Given the description of an element on the screen output the (x, y) to click on. 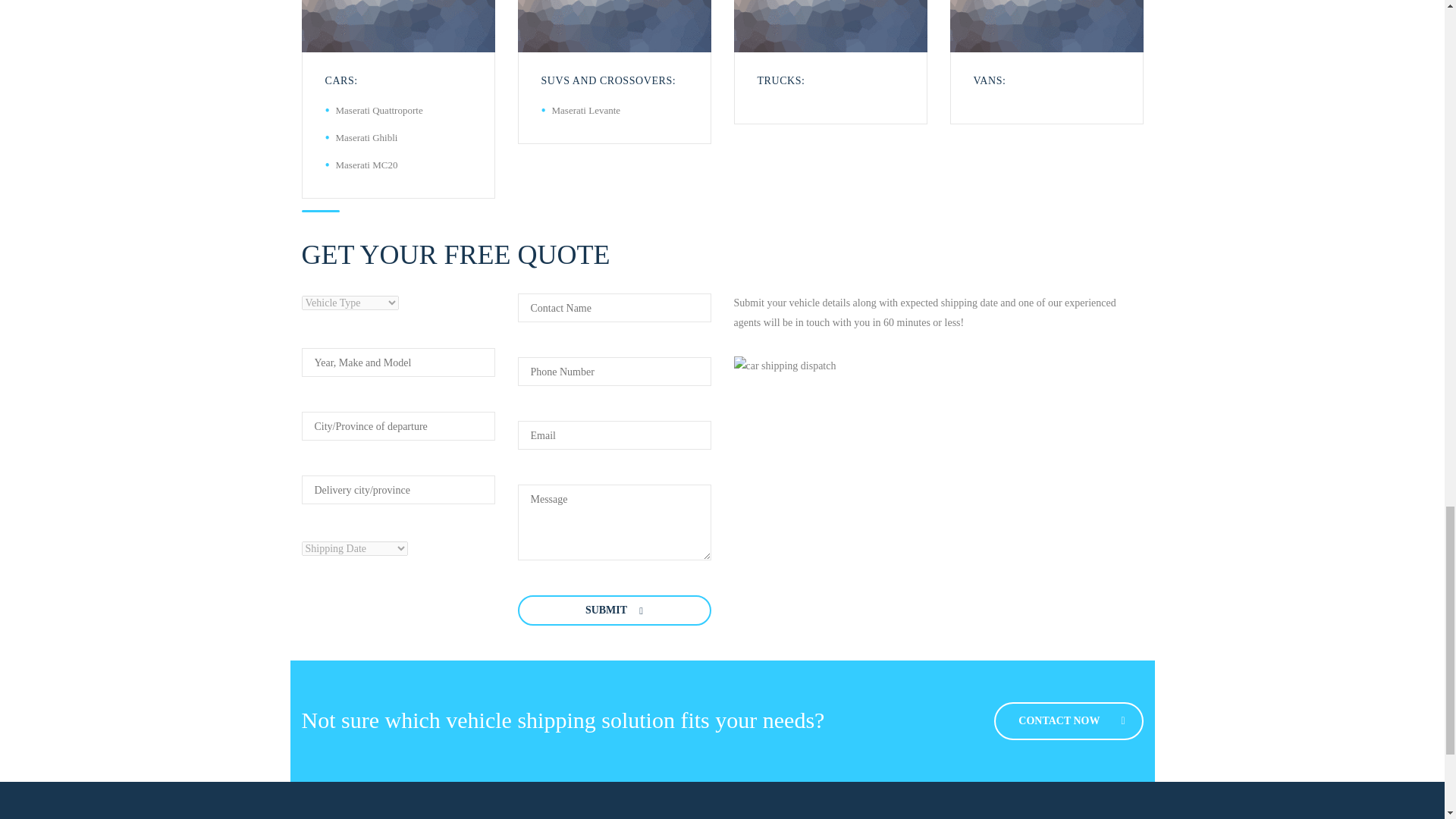
placeholder (613, 26)
placeholder (830, 26)
placeholder (398, 26)
placeholder (1045, 26)
Contacts (1068, 720)
